Given the description of an element on the screen output the (x, y) to click on. 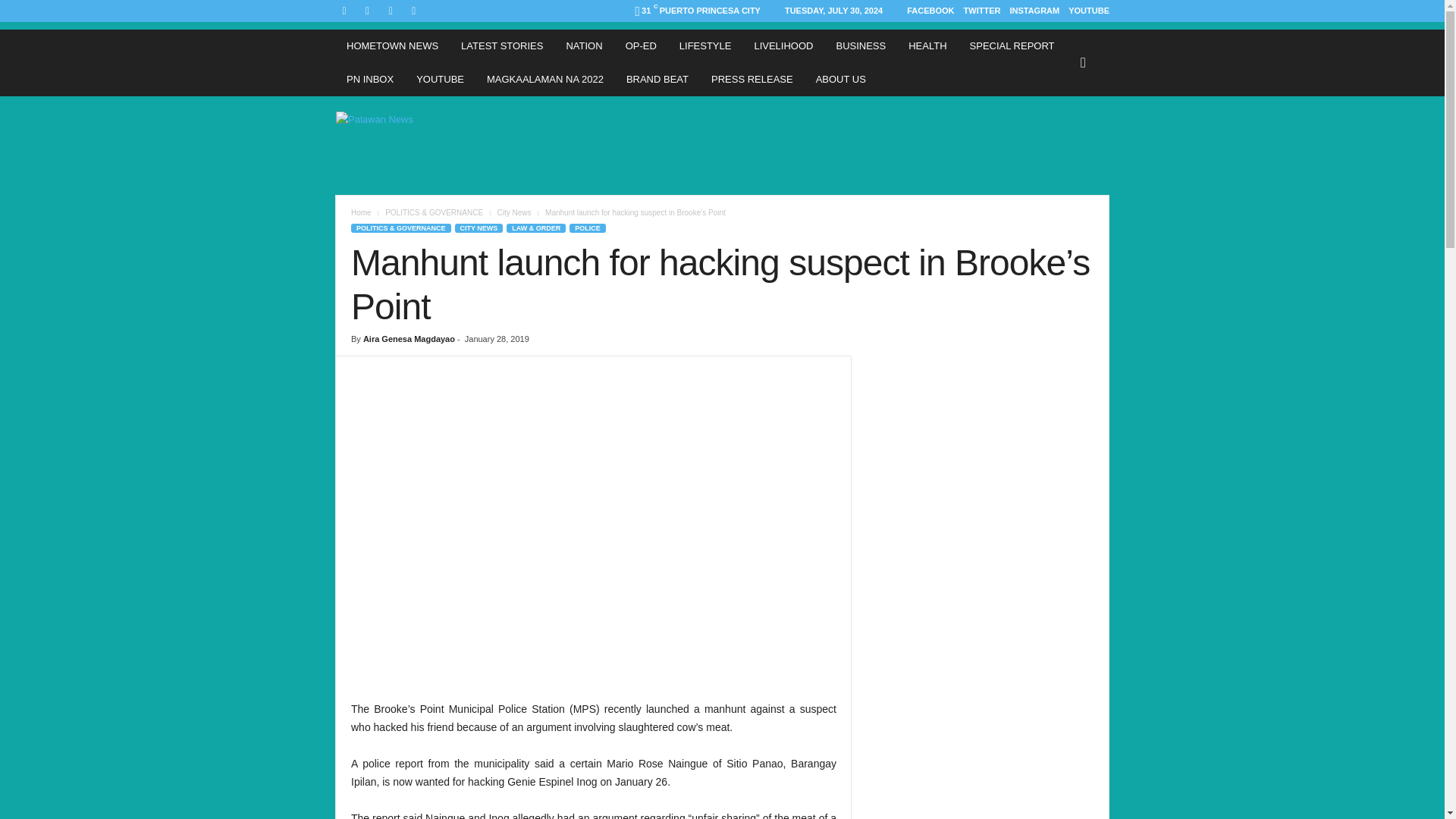
Palawan News (438, 145)
